Given the description of an element on the screen output the (x, y) to click on. 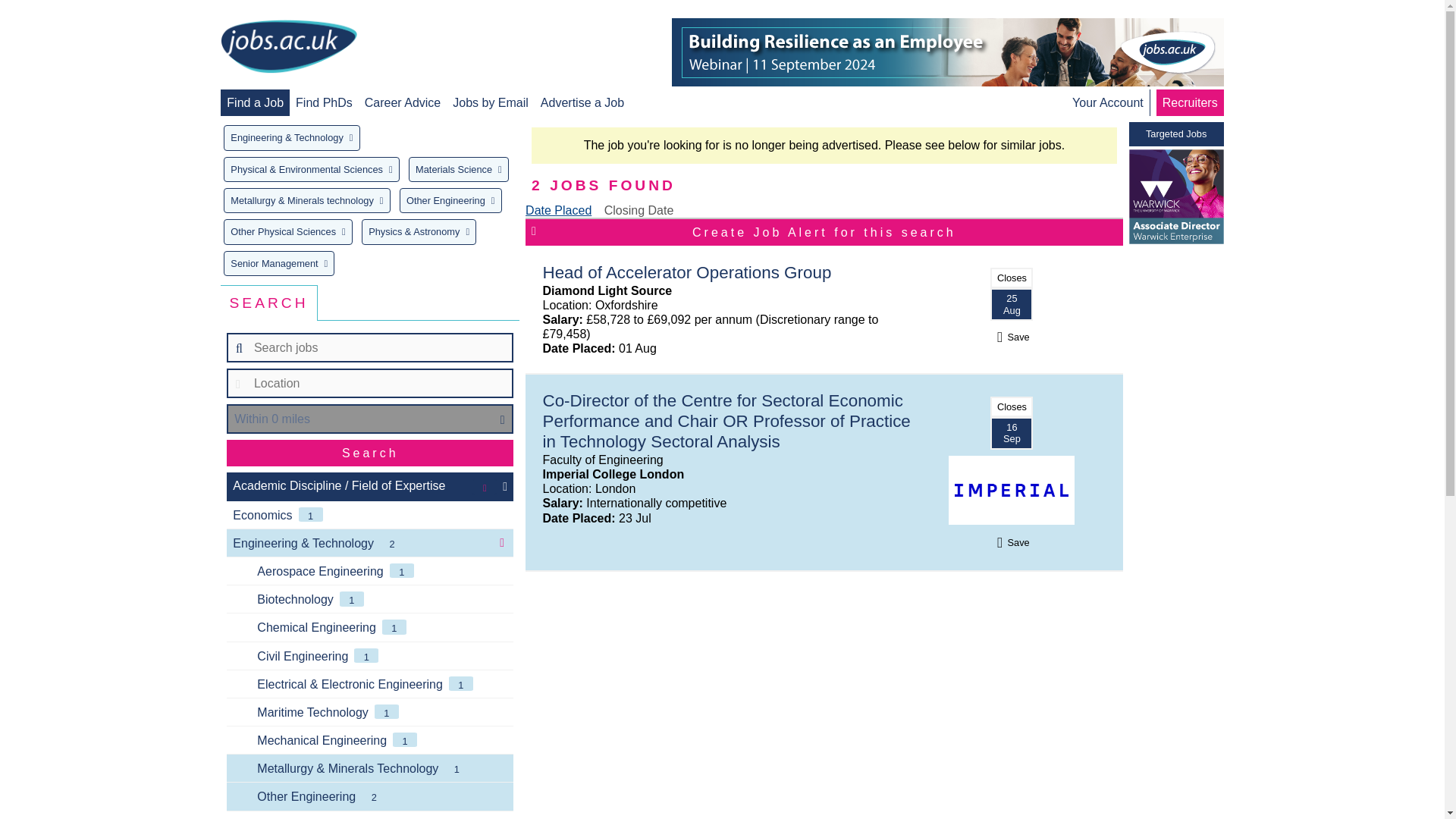
Career Advice (403, 102)
Search (370, 452)
jobs.ac.uk - Great jobs for bright people (288, 45)
Recruiters (1189, 102)
Save job (1011, 542)
Advertise a Job (582, 102)
home page (288, 47)
Building Resilience as an Employee (947, 52)
Find a Job (255, 102)
Search (370, 452)
